Given the description of an element on the screen output the (x, y) to click on. 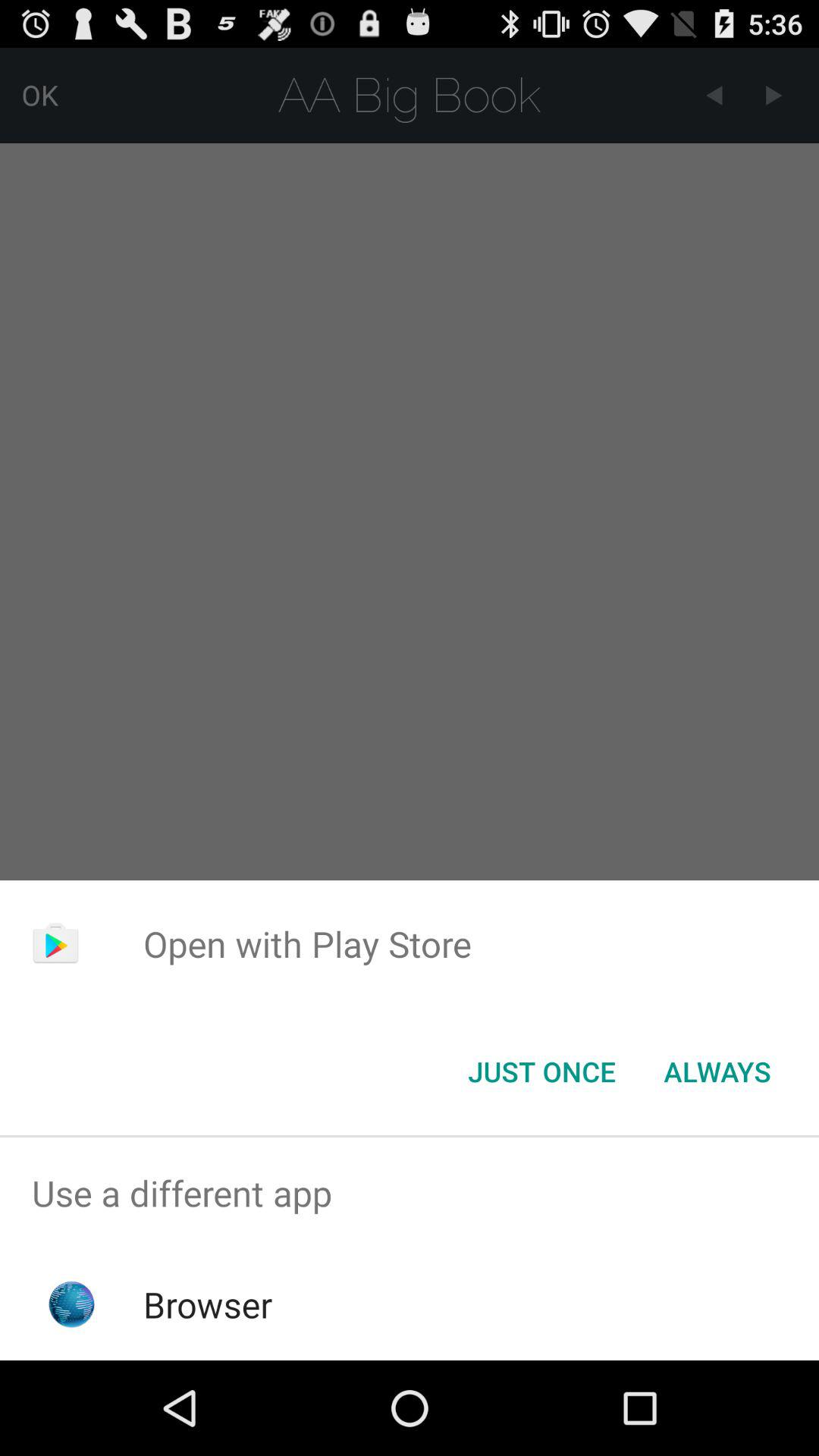
press icon next to always (541, 1071)
